Given the description of an element on the screen output the (x, y) to click on. 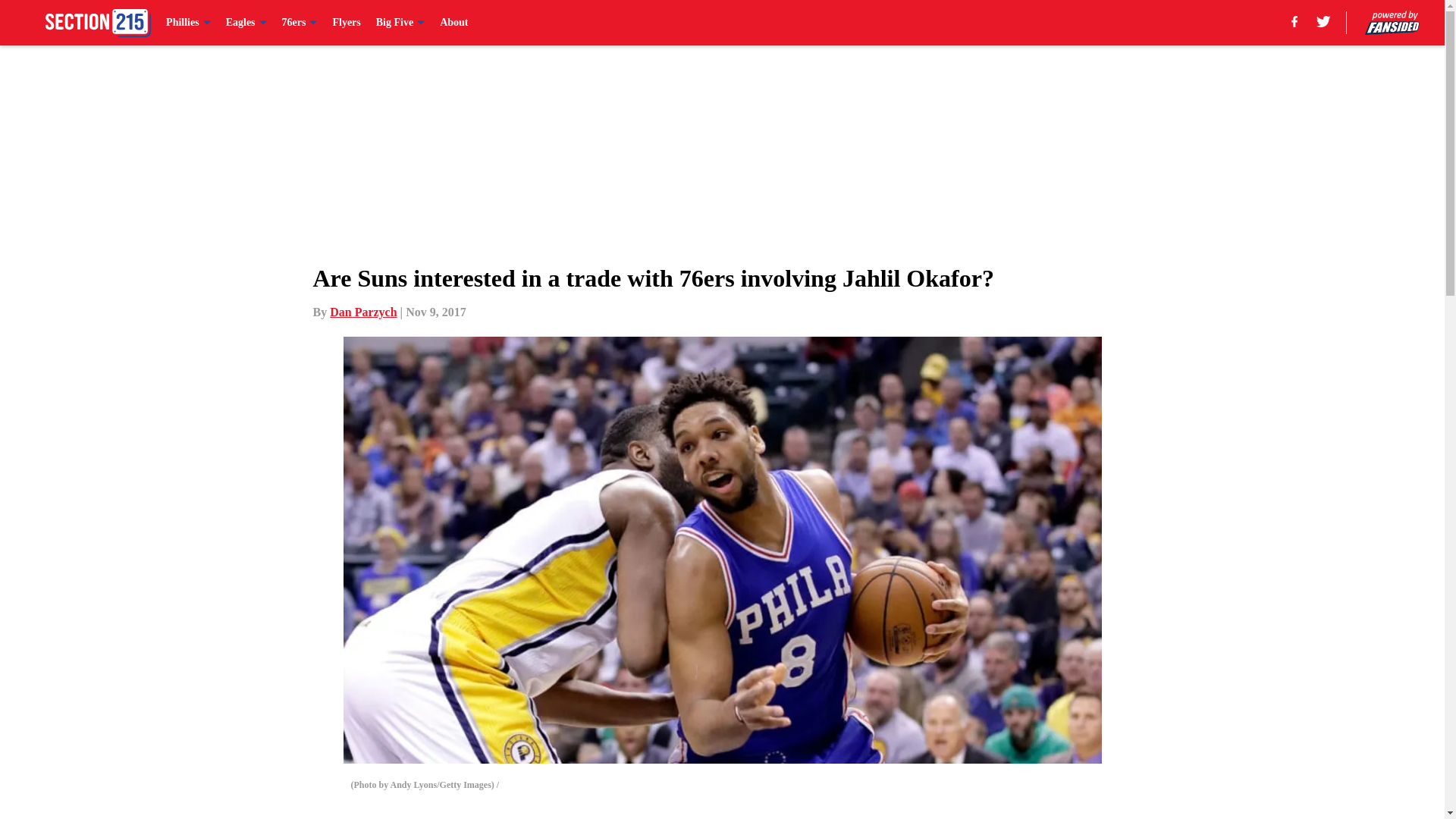
Dan Parzych (363, 311)
About (453, 22)
Flyers (345, 22)
